Given the description of an element on the screen output the (x, y) to click on. 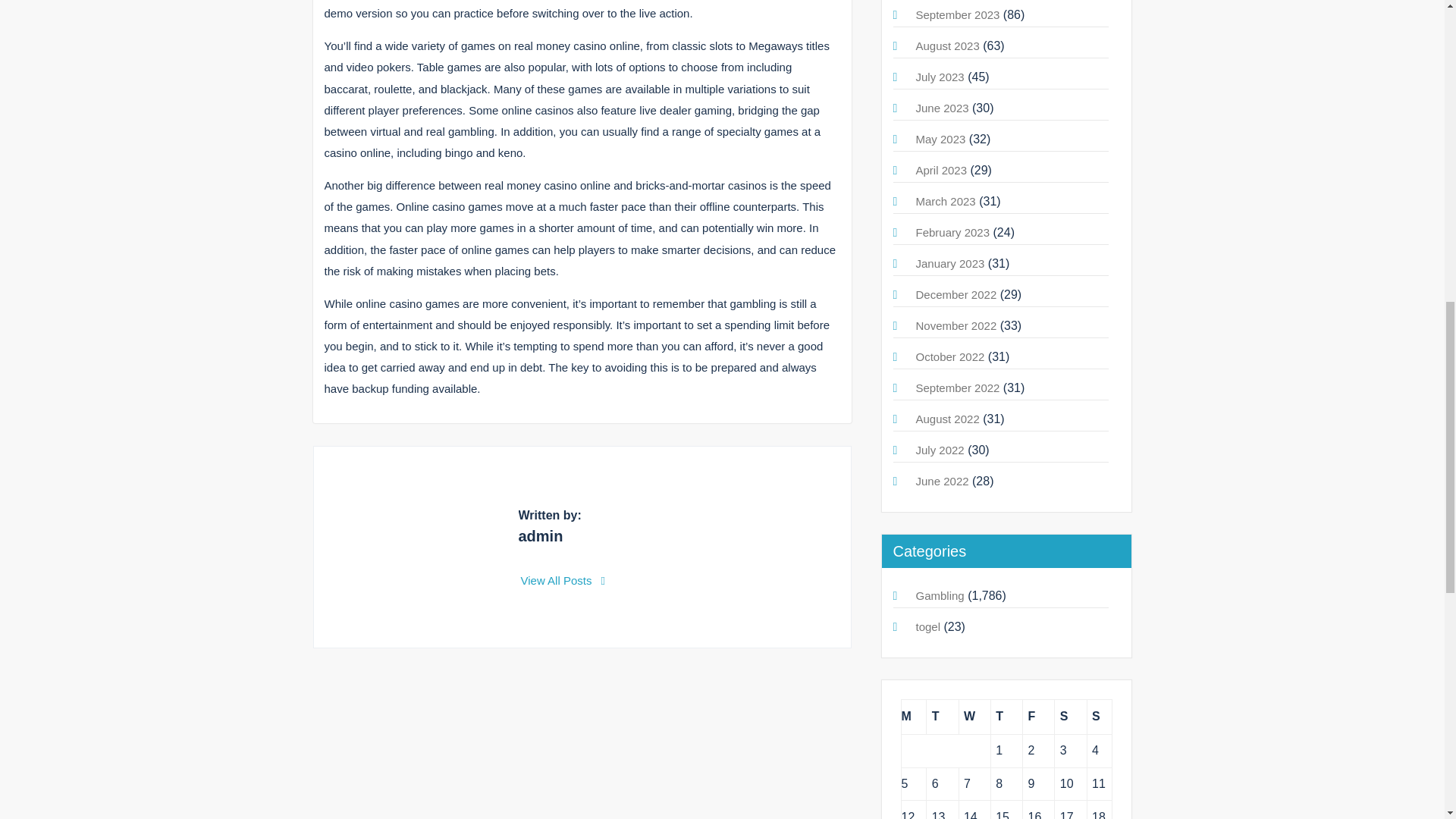
togel (927, 626)
October 2022 (950, 356)
February 2023 (952, 232)
September 2022 (957, 387)
Gambling (939, 594)
December 2022 (956, 294)
Thursday (1006, 716)
Tuesday (942, 716)
Wednesday (974, 716)
August 2023 (947, 45)
